Given the description of an element on the screen output the (x, y) to click on. 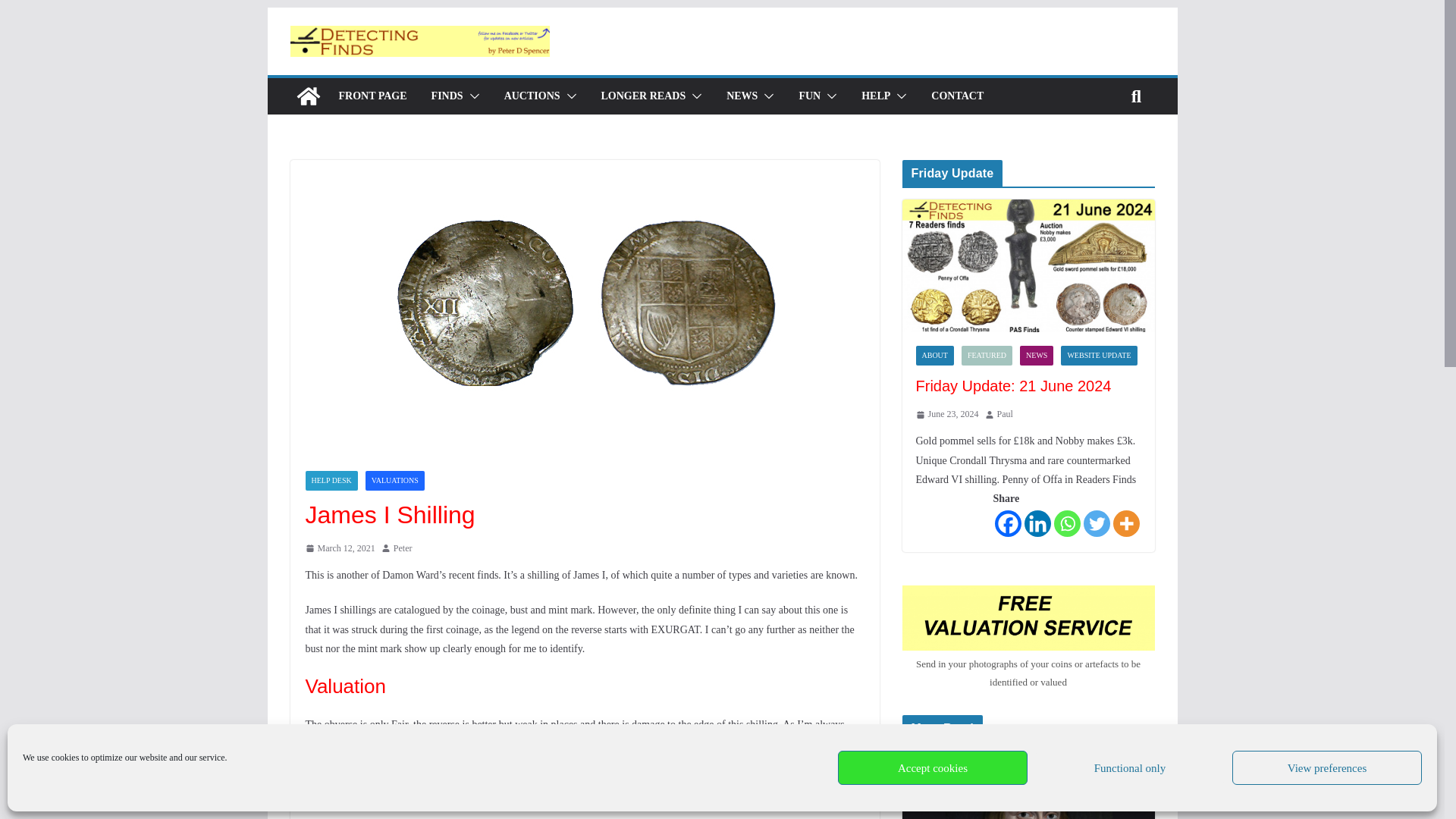
Detecting Finds (307, 95)
Peter (402, 548)
View preferences (1326, 767)
12:50 pm (339, 548)
LONGER READS (643, 96)
AUCTIONS (531, 96)
NEWS (741, 96)
FRONT PAGE (371, 96)
HELP (875, 96)
FUN (809, 96)
